Given the description of an element on the screen output the (x, y) to click on. 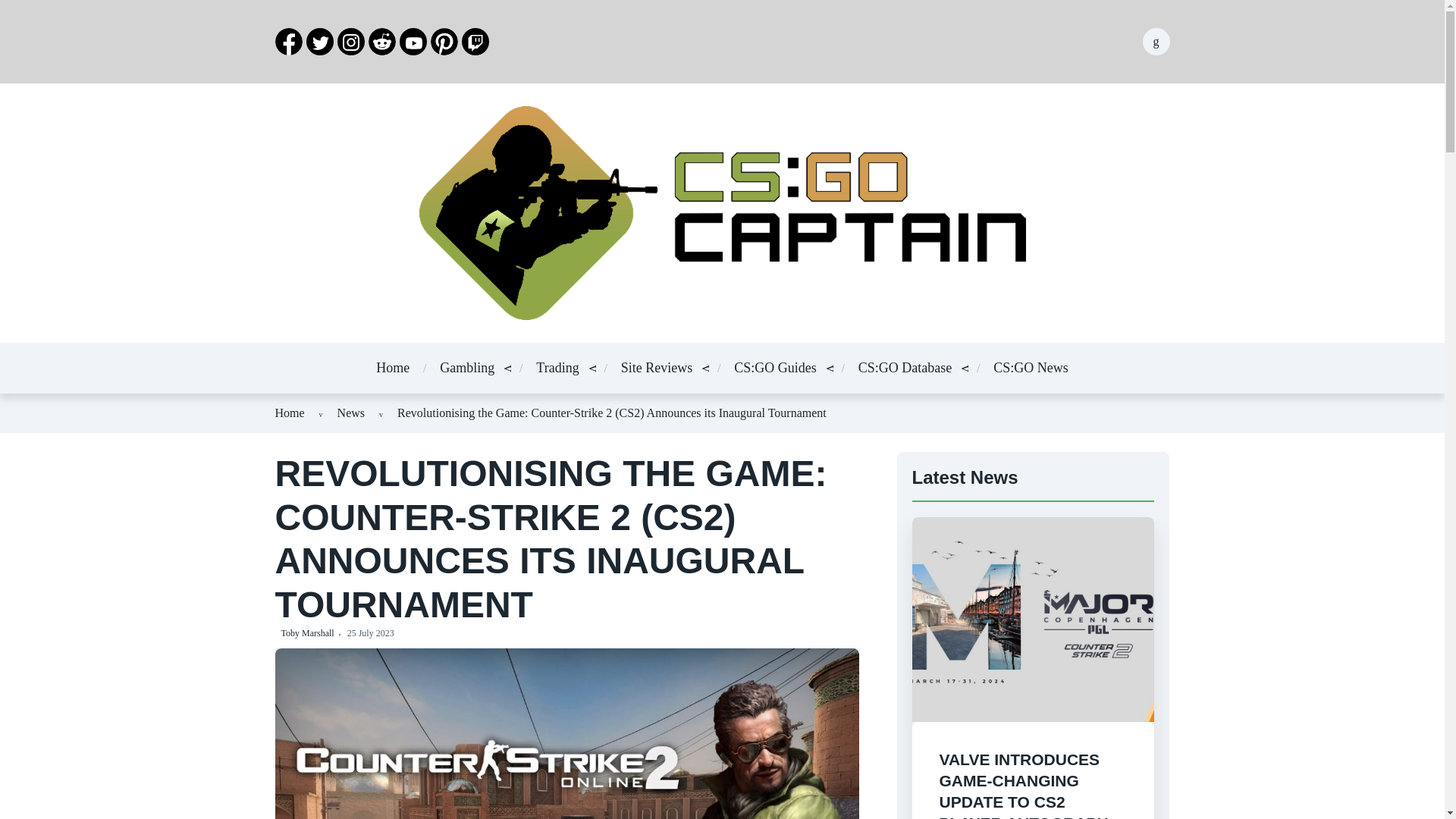
Trading (556, 367)
Home (392, 367)
News (351, 412)
Site Reviews (657, 367)
Gambling (467, 367)
Home (289, 412)
